Given the description of an element on the screen output the (x, y) to click on. 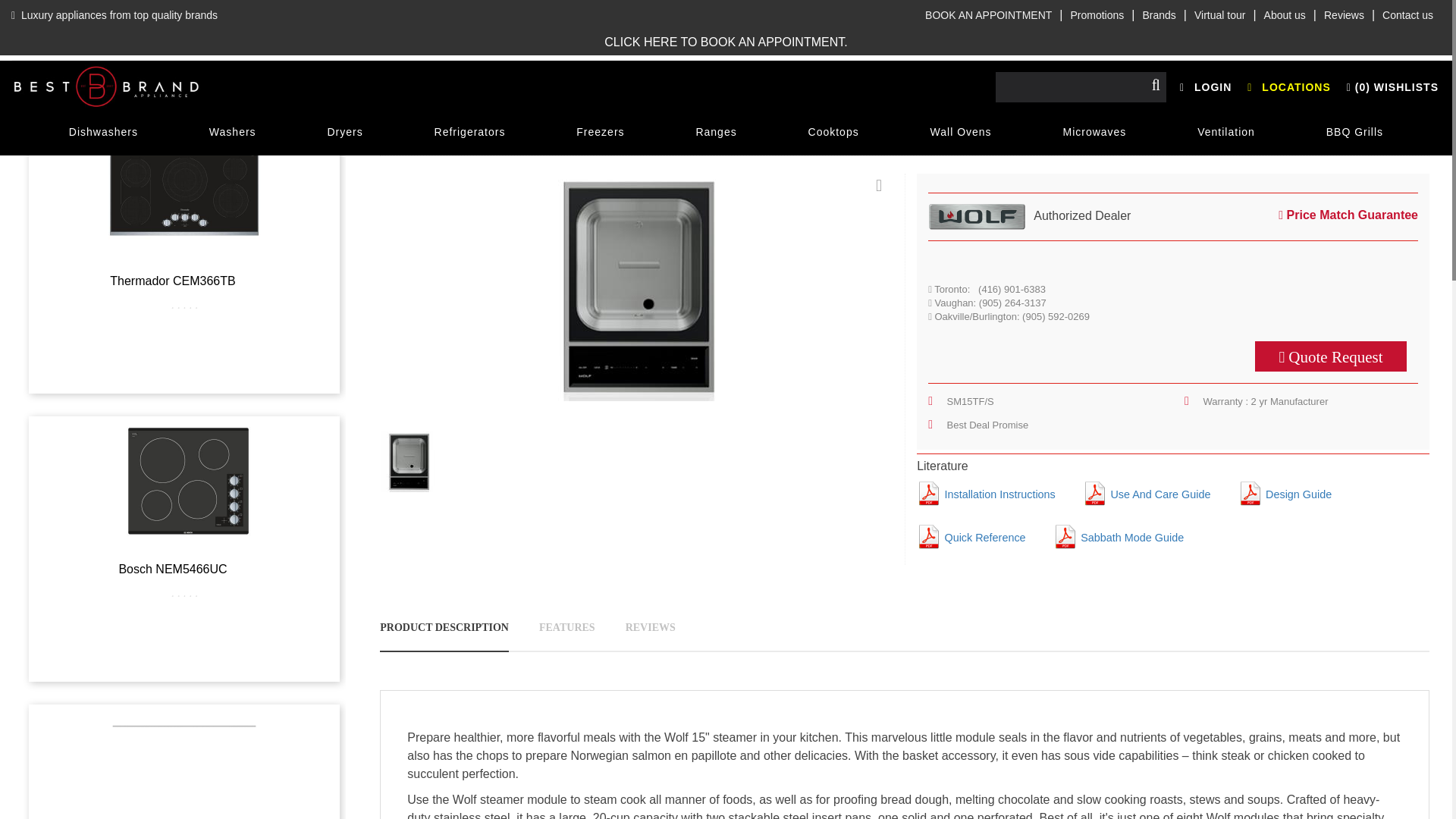
Cooktops (833, 131)
Freezers (599, 131)
LOGIN (1205, 86)
Microwaves (1093, 131)
Refrigerators (470, 131)
BBQ Grills (1354, 131)
Virtual tour (1219, 15)
Ventilation (1226, 131)
Promotions (1096, 15)
About us (1284, 15)
Reviews (1343, 15)
Dishwashers (102, 131)
Washers (232, 131)
BOOK AN APPOINTMENT (988, 15)
Contact us (1407, 15)
